Given the description of an element on the screen output the (x, y) to click on. 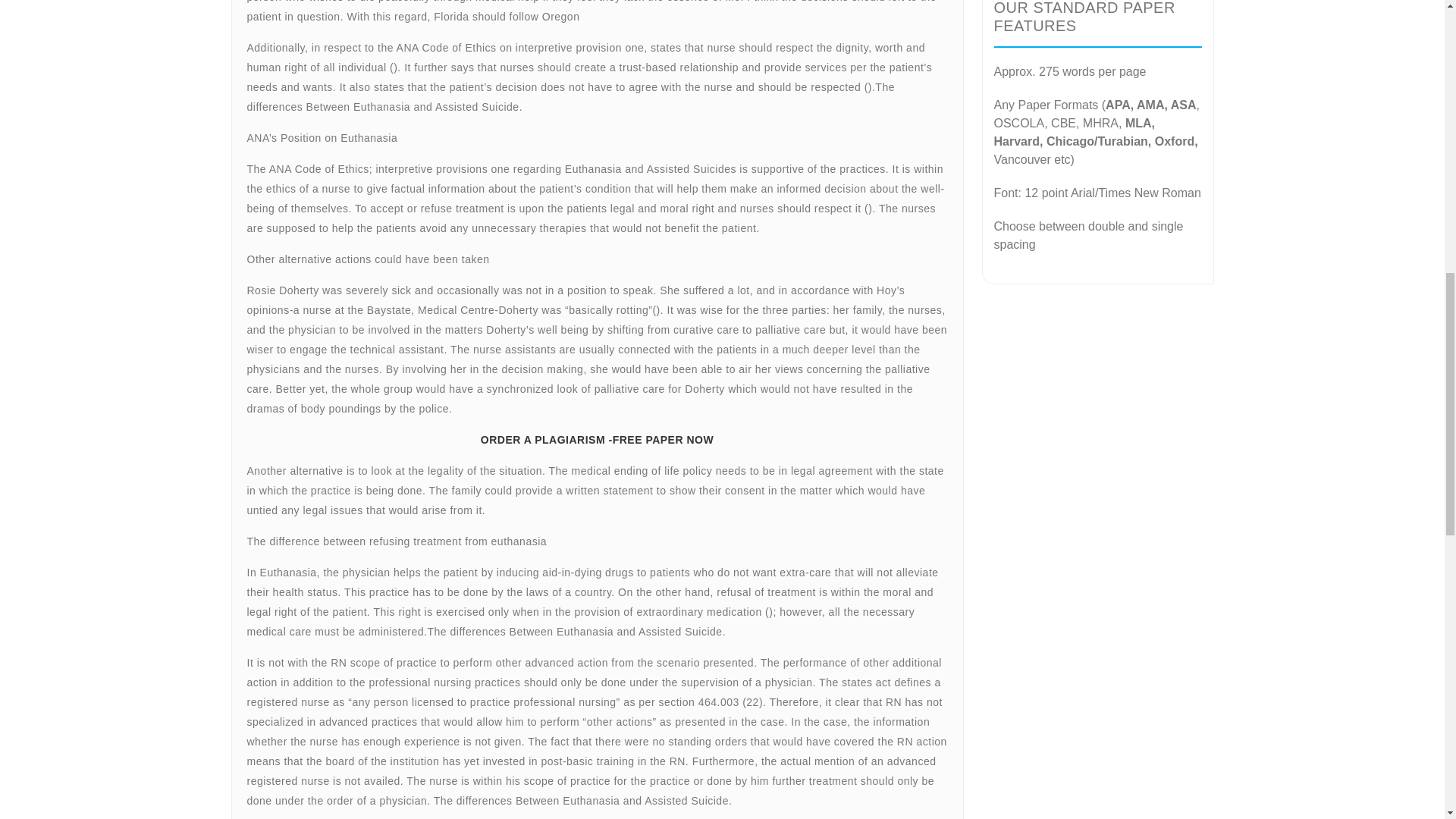
ORDER A PLAGIARISM -FREE PAPER NOW (596, 439)
